Given the description of an element on the screen output the (x, y) to click on. 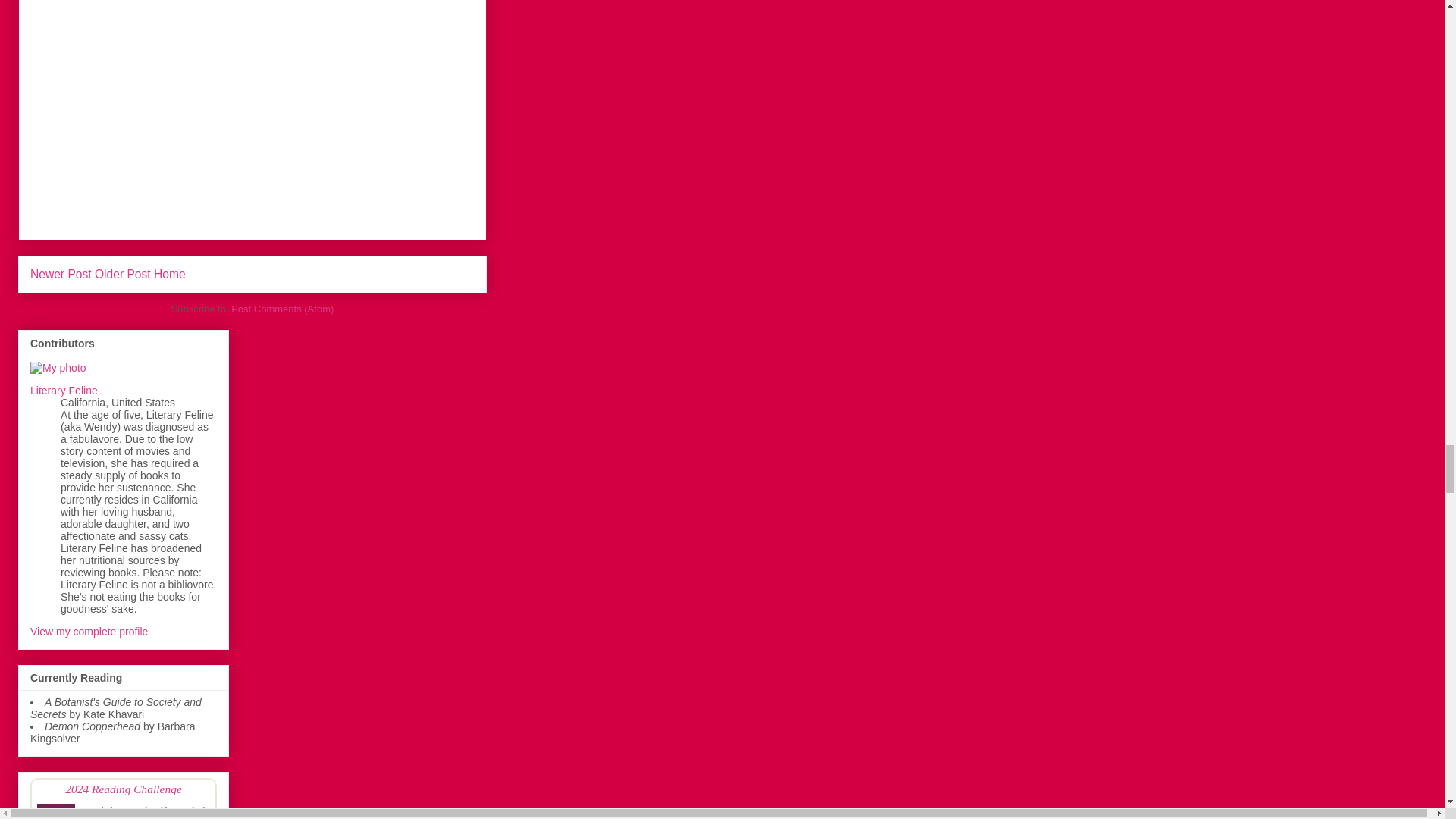
Newer Post (60, 273)
Older Post (122, 273)
